Given the description of an element on the screen output the (x, y) to click on. 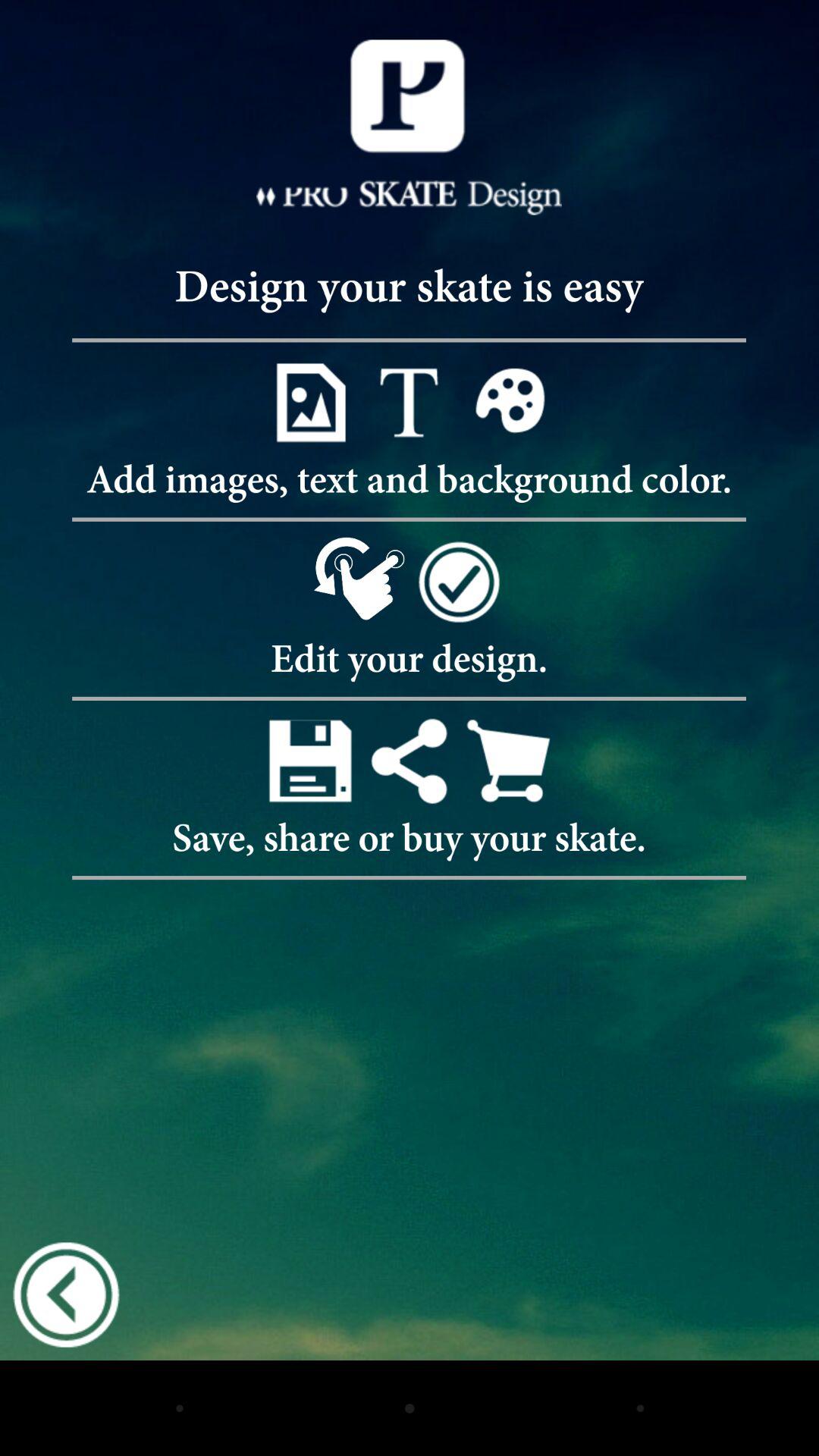
add an image to your design (309, 402)
